Given the description of an element on the screen output the (x, y) to click on. 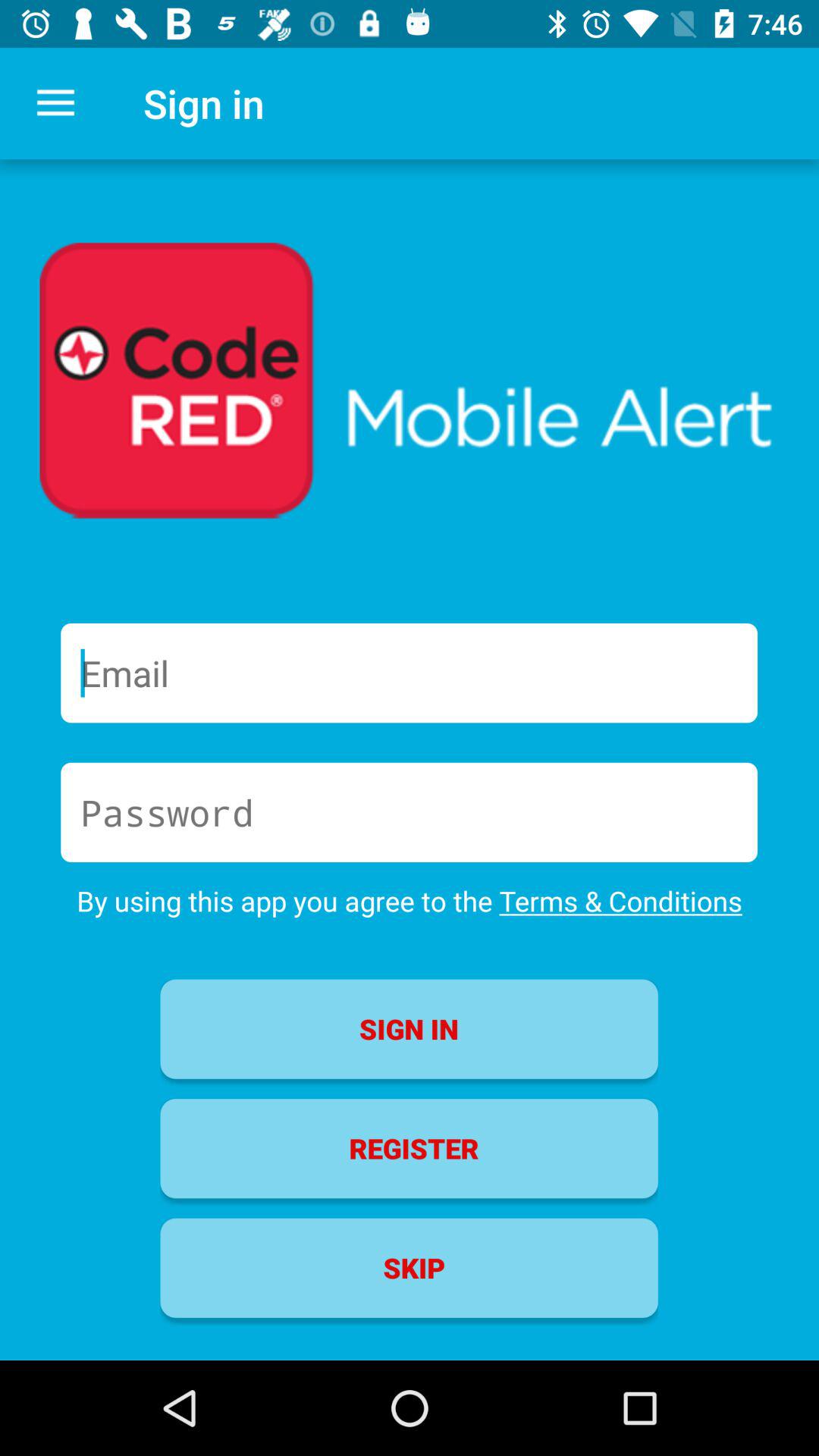
choose item above skip icon (409, 1148)
